Given the description of an element on the screen output the (x, y) to click on. 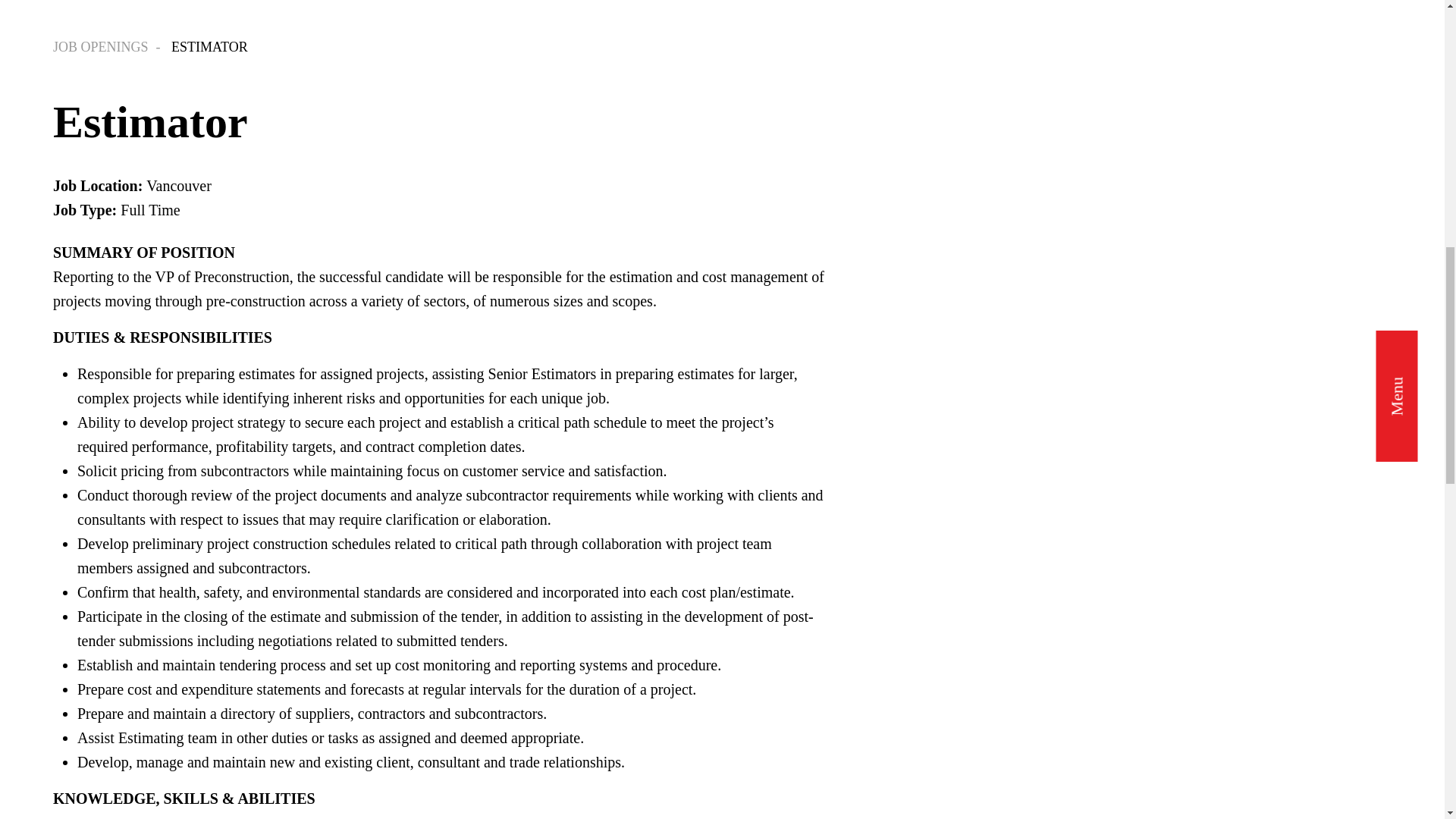
JOB OPENINGS (110, 46)
